Given the description of an element on the screen output the (x, y) to click on. 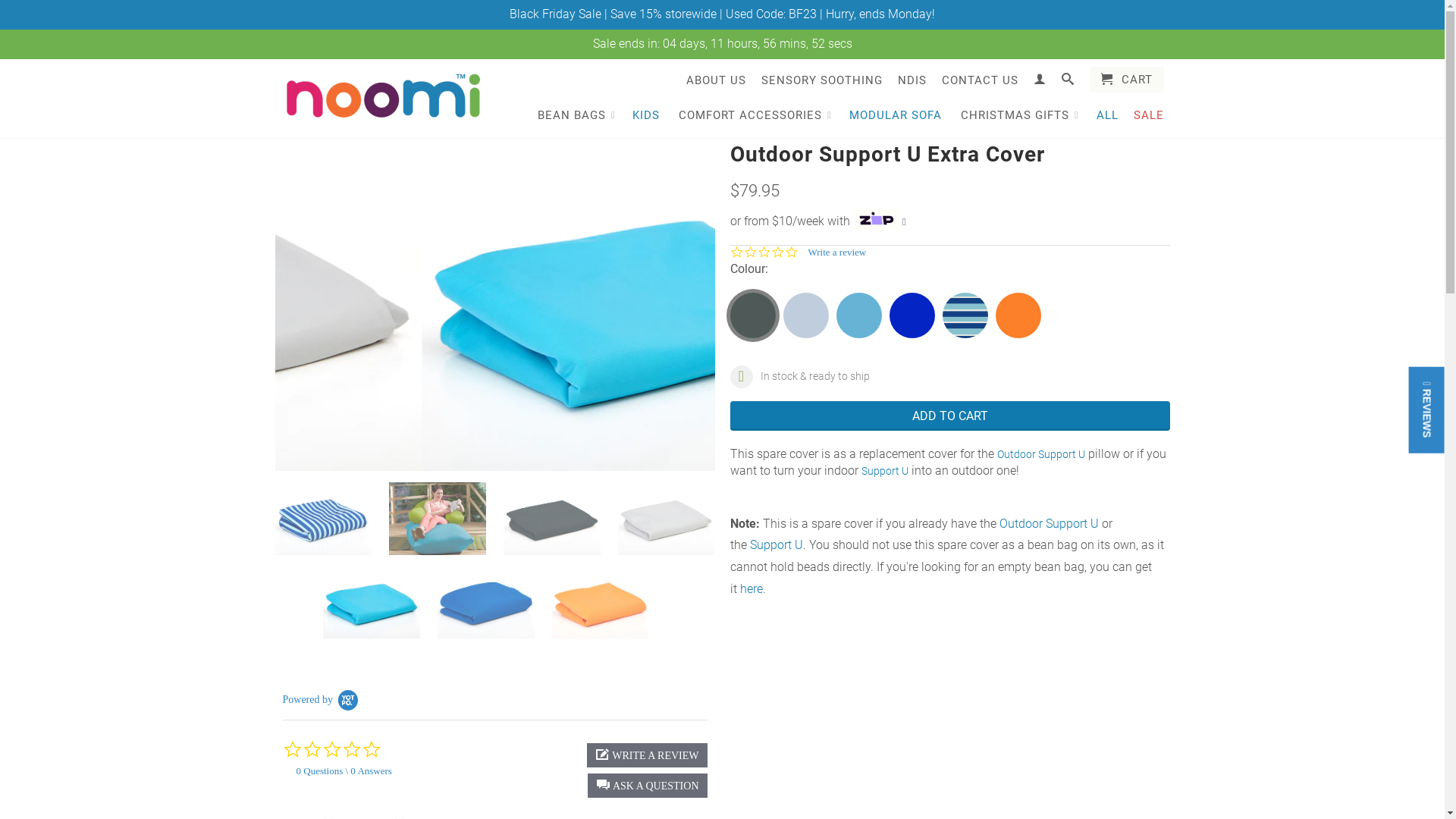
My Account  Element type: hover (1038, 78)
Support U Element type: text (775, 544)
Support U Element type: text (884, 470)
CONTACT US Element type: text (979, 80)
ABOUT US Element type: text (715, 80)
Outdoor Support U Element type: text (1048, 523)
Noomi Bean Bags Element type: hover (380, 96)
0 Questions \ 0 Answers Element type: text (339, 770)
ALL Element type: text (1107, 115)
Add to Cart Element type: text (949, 415)
SENSORY SOOTHING Element type: text (821, 80)
here Element type: text (751, 588)
MODULAR SOFA Element type: text (895, 115)
Search Element type: hover (1067, 78)
Write a review Element type: text (831, 252)
NDIS Element type: text (911, 80)
Outdoor Support U Extra Cover Element type: hover (494, 305)
Outdoor Support U Element type: text (1040, 454)
CART Element type: text (1125, 79)
SALE Element type: text (1147, 115)
KIDS Element type: text (645, 115)
